Given the description of an element on the screen output the (x, y) to click on. 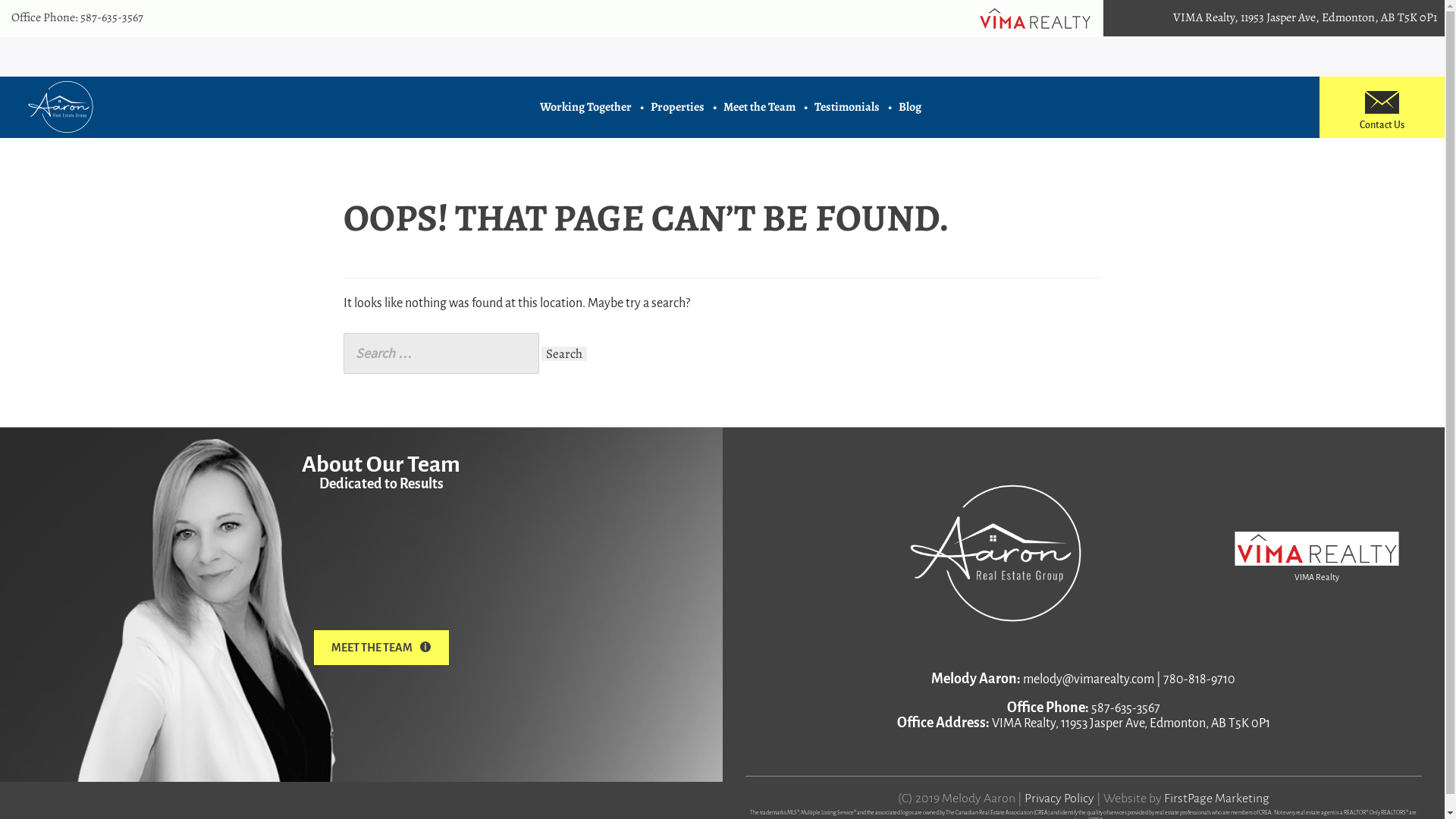
587-635-3567 Element type: text (111, 17)
melody@vimarealty.com Element type: text (1088, 679)
Meet the Team Element type: text (759, 106)
Properties Element type: text (677, 106)
Testimonials Element type: text (846, 106)
MEET THE TEAM Element type: text (380, 647)
FirstPage Marketing Element type: text (1216, 798)
Blog Element type: text (909, 106)
780-818-9710 Element type: text (1199, 679)
Contact Us Element type: text (1381, 118)
Search Element type: text (563, 353)
587-635-3567 Element type: text (1125, 708)
Privacy Policy Element type: text (1059, 798)
Working Together Element type: text (585, 106)
